Given the description of an element on the screen output the (x, y) to click on. 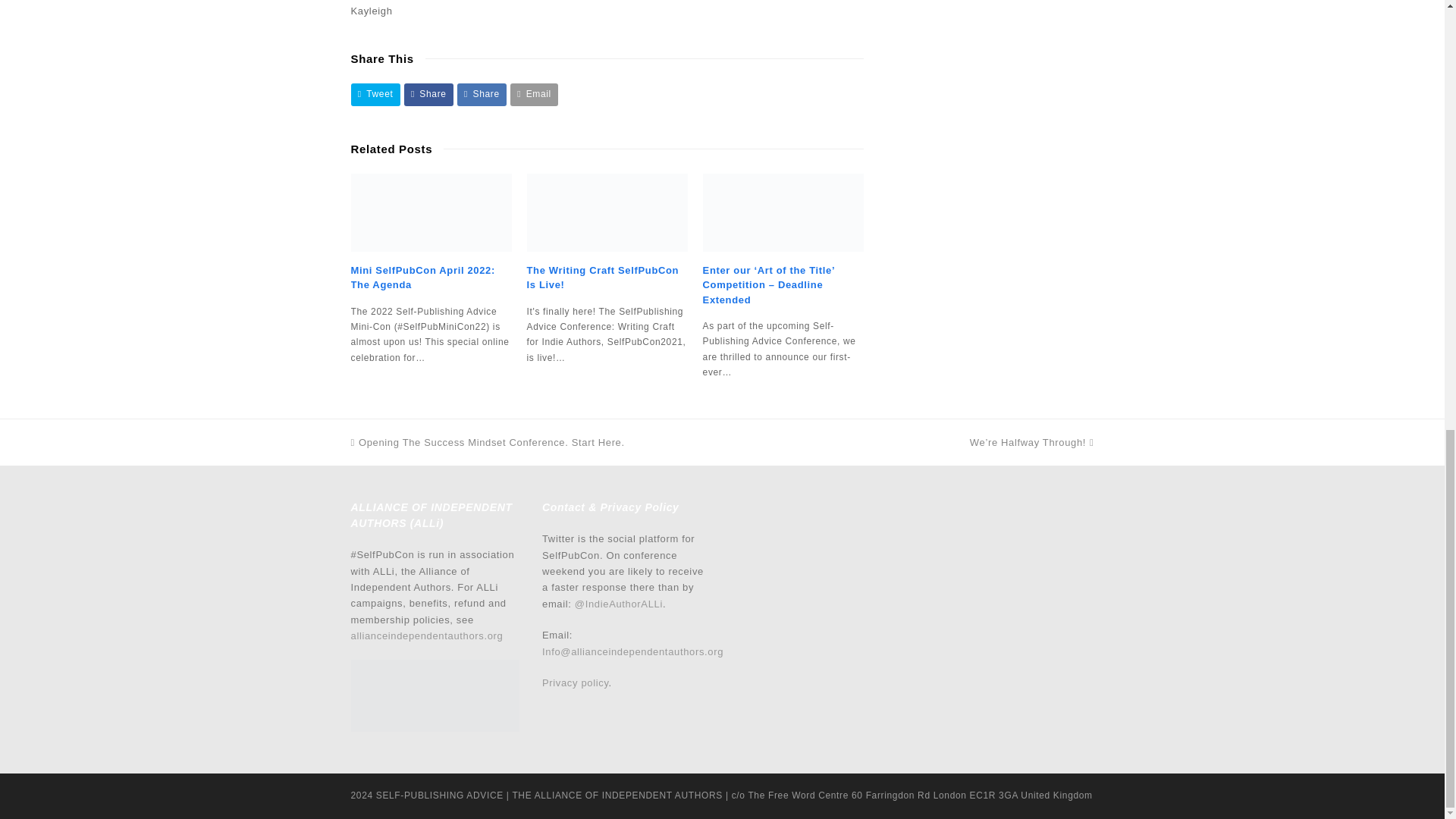
Share (481, 94)
Mini SelfPubCon April 2022: The Agenda (430, 211)
The Writing Craft SelfPubCon Is Live! (607, 211)
Tweet (374, 94)
Share (428, 94)
